Given the description of an element on the screen output the (x, y) to click on. 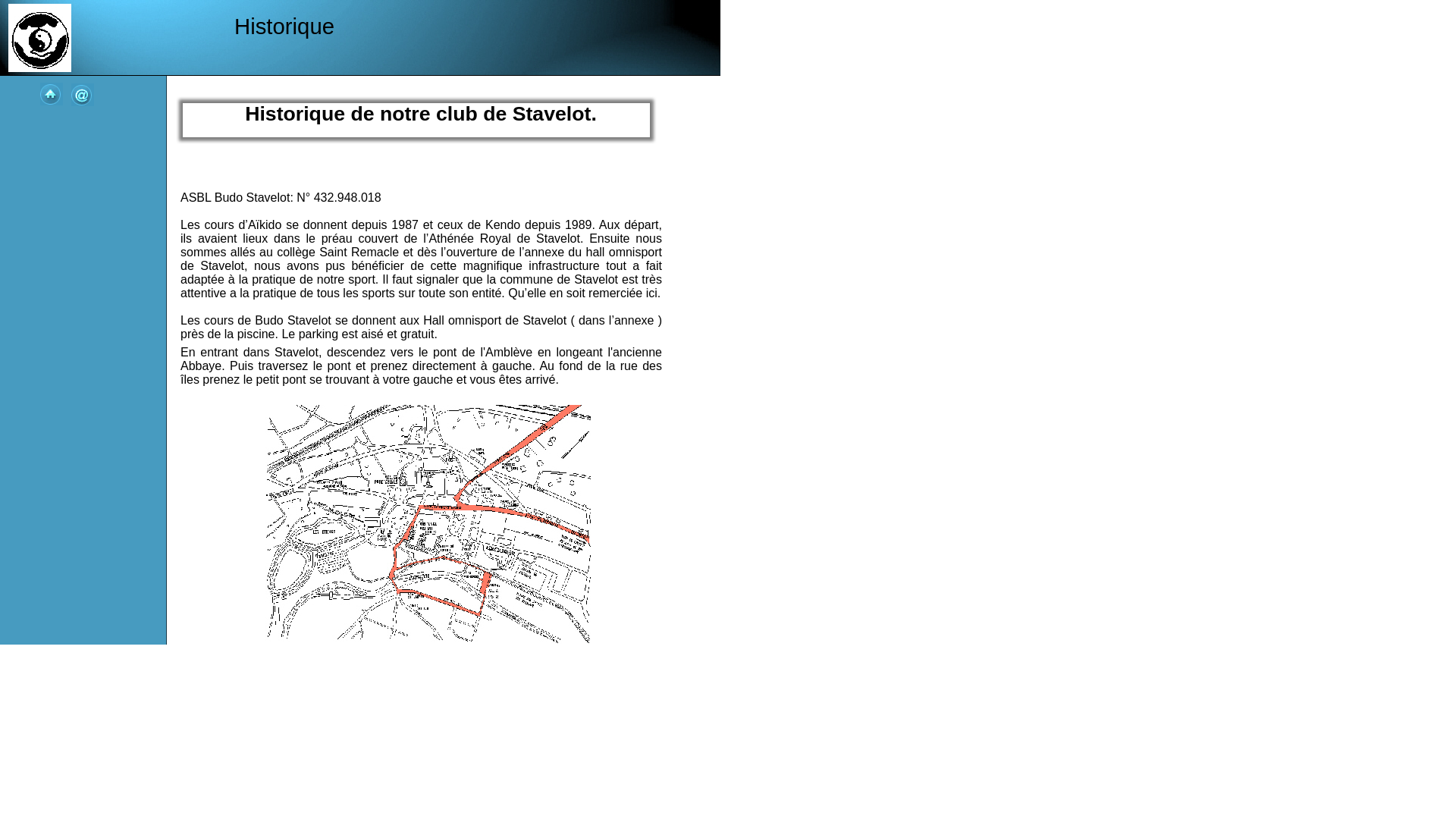
Un petit message ! Element type: hover (82, 94)
Home Element type: hover (51, 93)
